Given the description of an element on the screen output the (x, y) to click on. 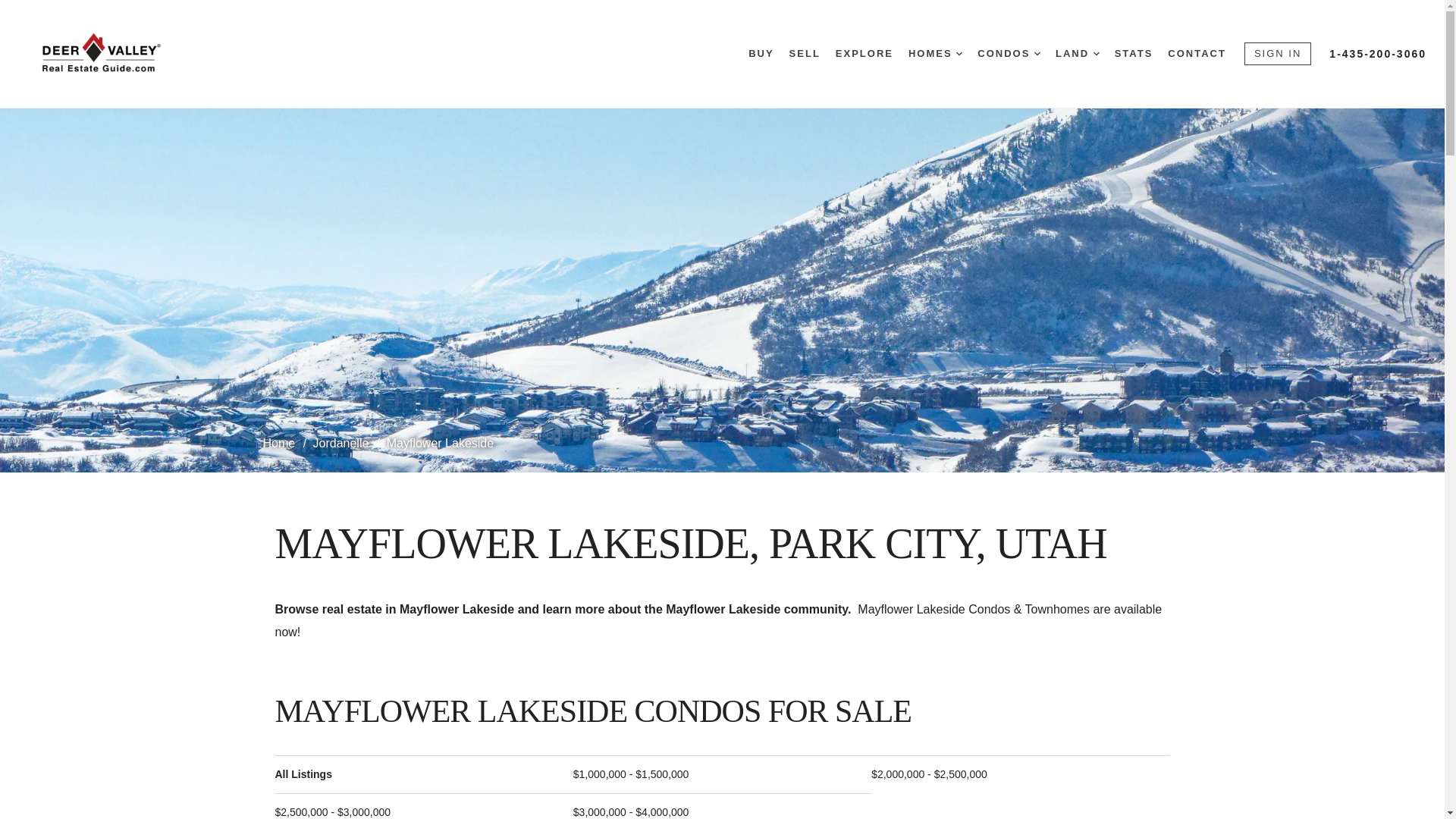
CONTACT (1196, 53)
BUY (760, 53)
STATS (1134, 53)
1-435-200-3060 (1377, 53)
Home (280, 442)
DROPDOWN ARROW (959, 53)
SIGN IN (1277, 54)
DROPDOWN ARROW (1037, 53)
HOMES DROPDOWN ARROW (935, 53)
SELL (805, 53)
